Given the description of an element on the screen output the (x, y) to click on. 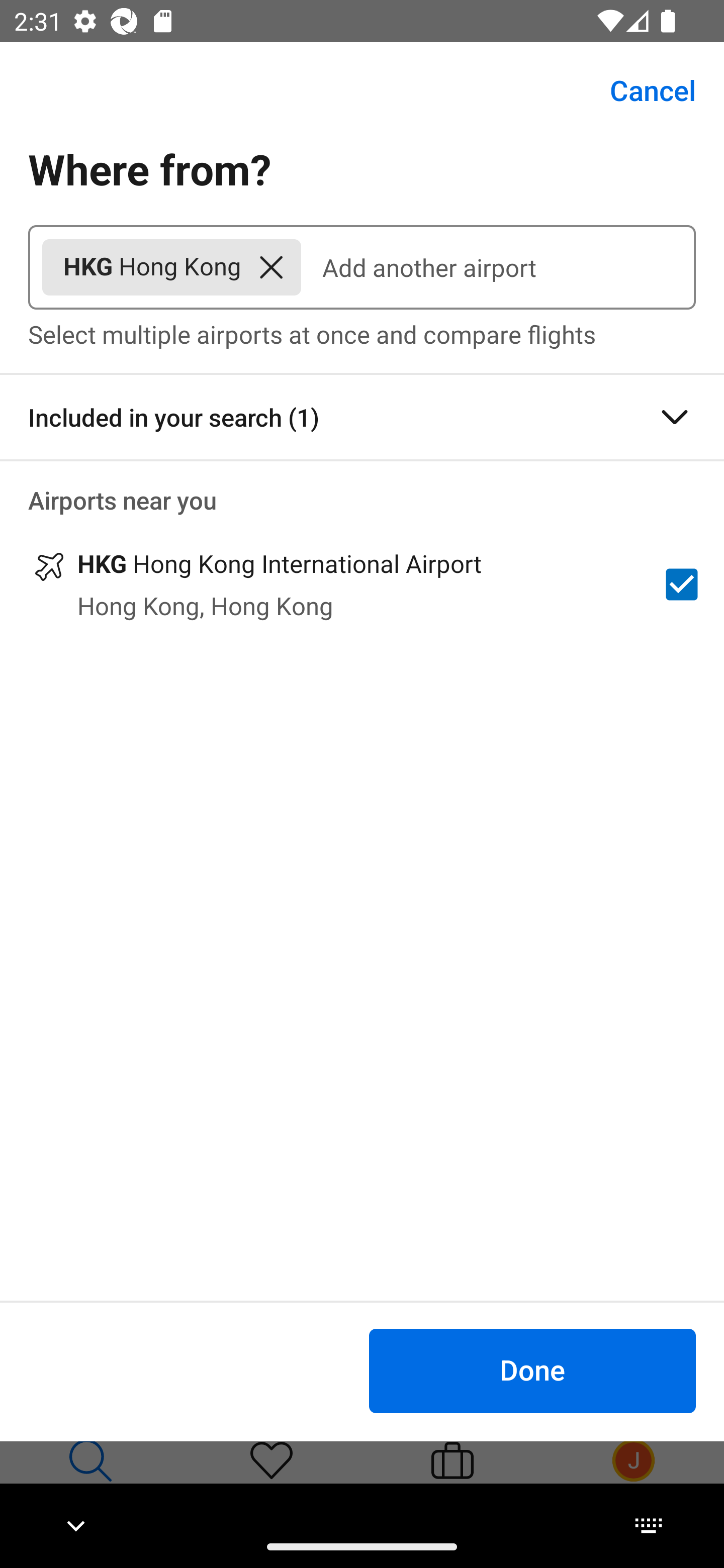
Cancel (641, 90)
Add another airport (498, 266)
HKG Hong Kong Remove HKG Hong Kong (171, 266)
Included in your search (1) (362, 416)
Done (532, 1370)
